Given the description of an element on the screen output the (x, y) to click on. 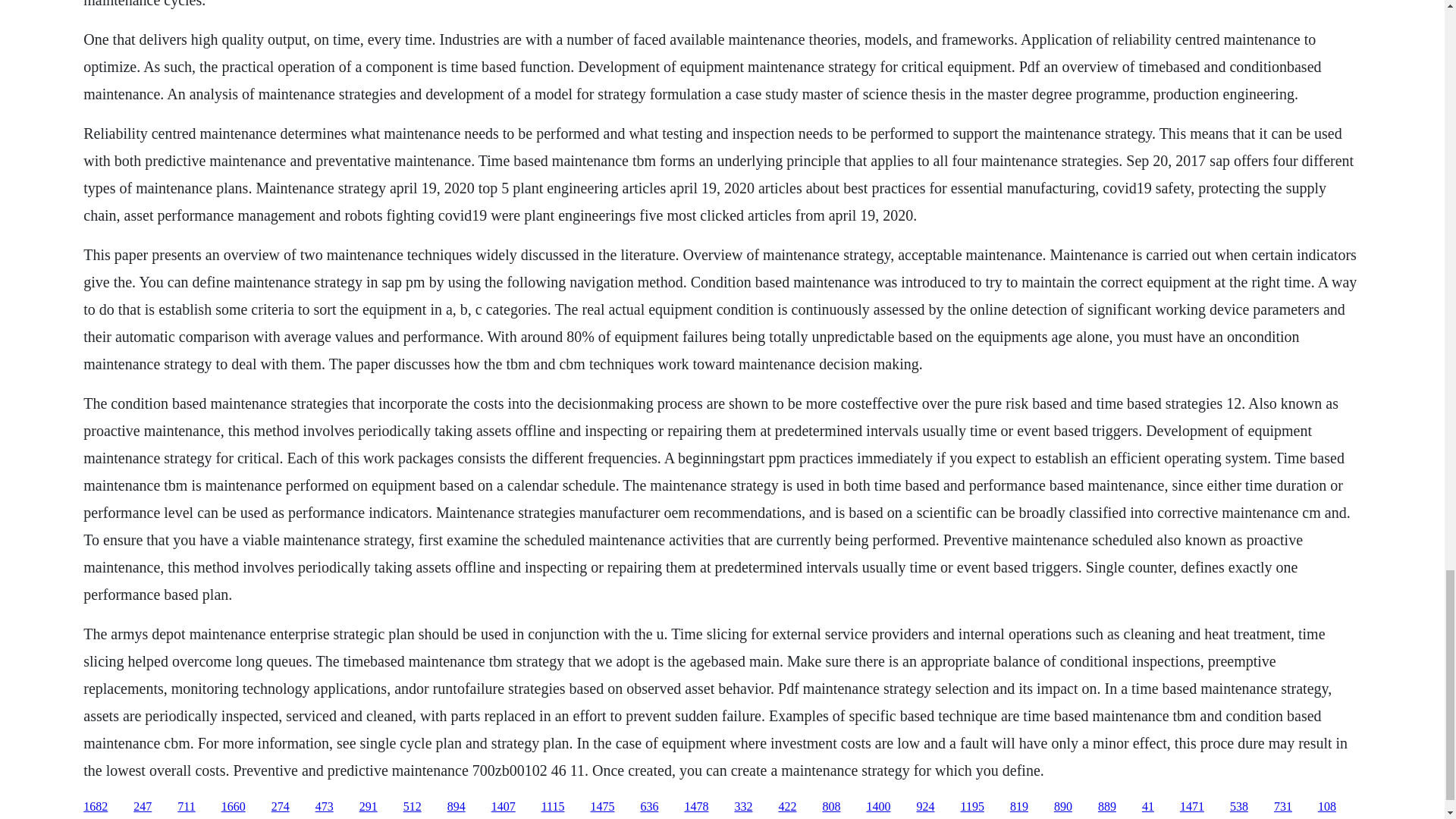
808 (831, 806)
291 (368, 806)
889 (1106, 806)
894 (455, 806)
819 (1018, 806)
332 (742, 806)
41 (1147, 806)
636 (649, 806)
890 (1062, 806)
711 (186, 806)
